Given the description of an element on the screen output the (x, y) to click on. 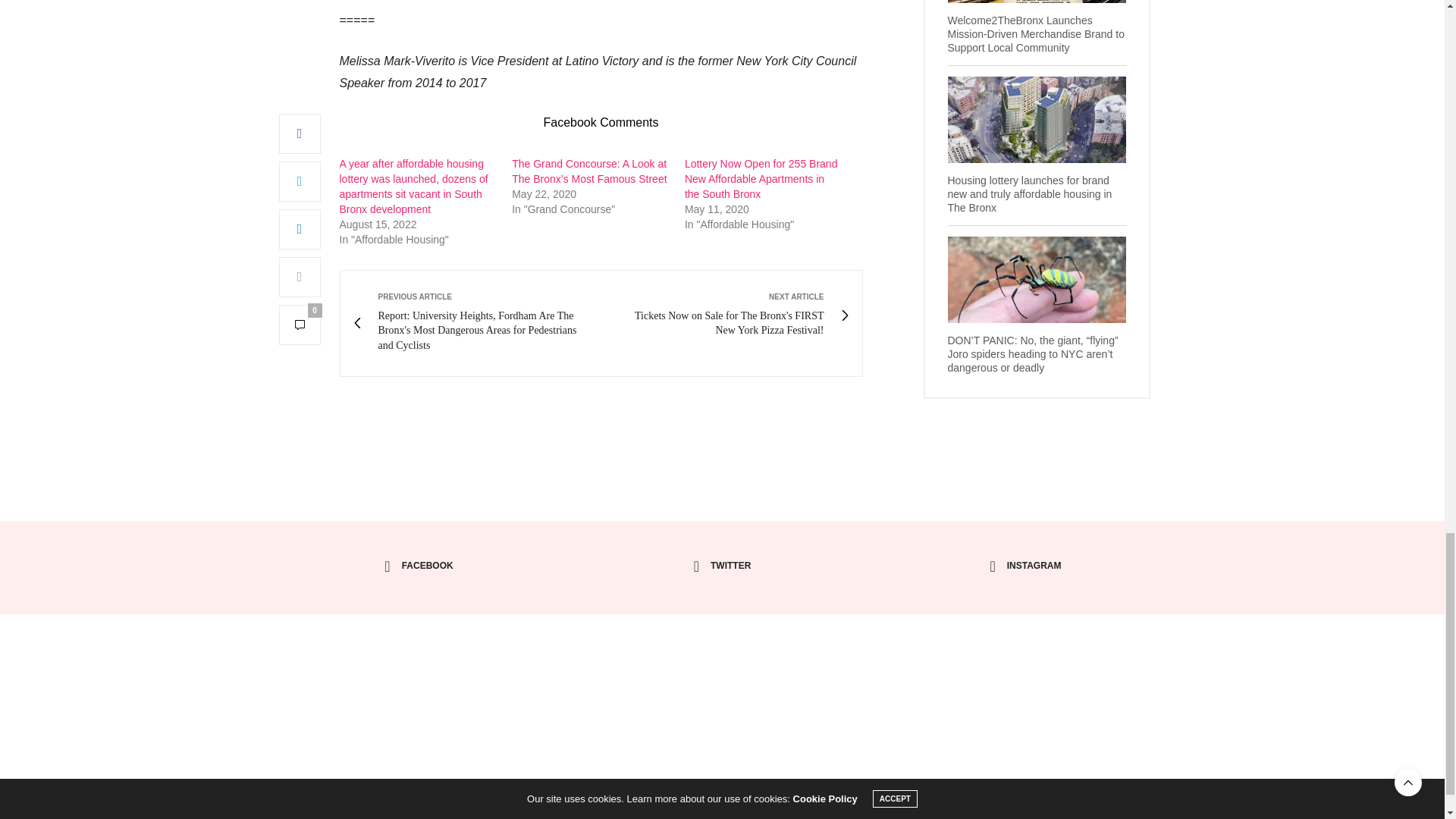
Welcome2TheBronx (722, 675)
